Given the description of an element on the screen output the (x, y) to click on. 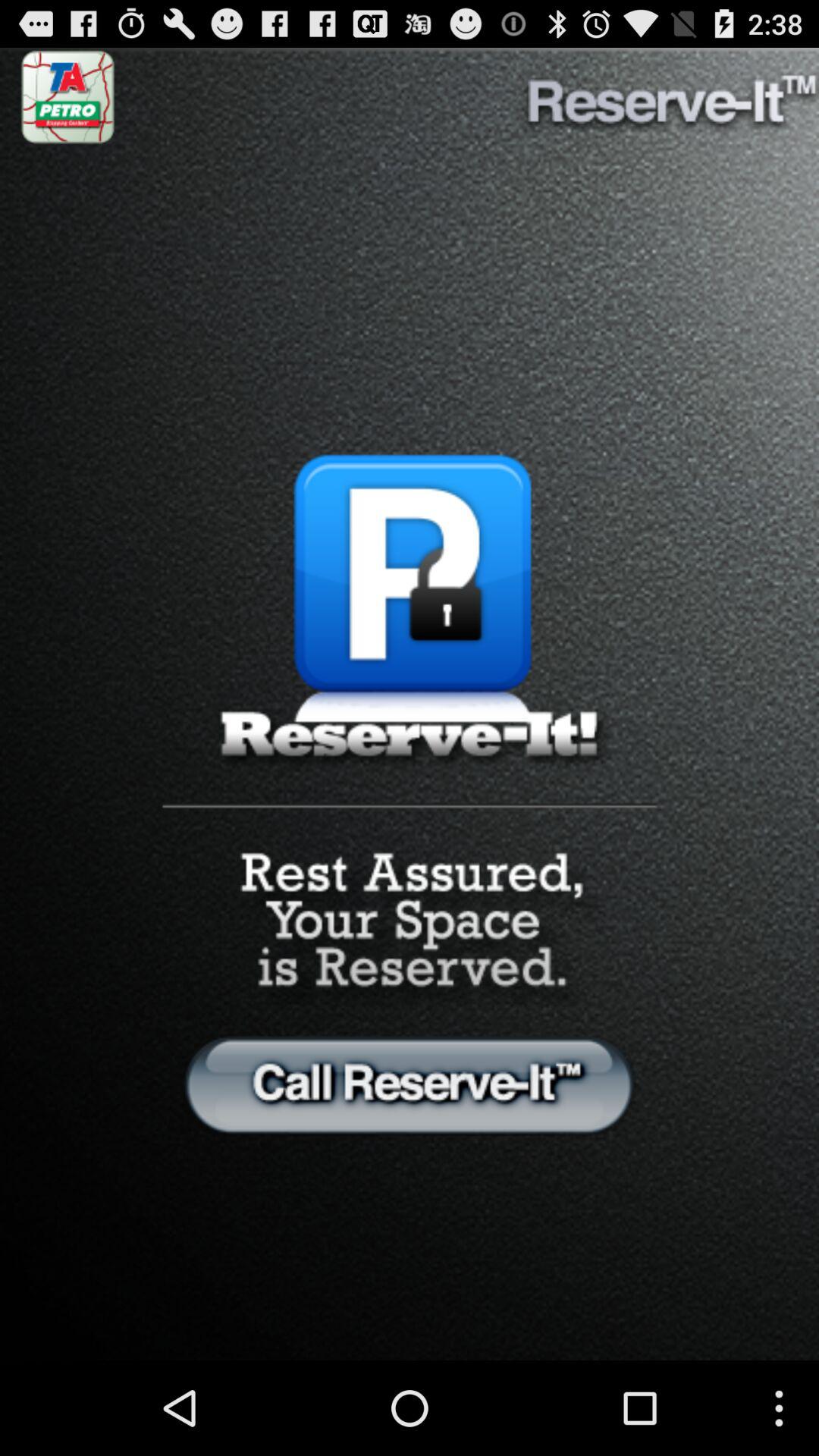
select option (409, 1084)
